Given the description of an element on the screen output the (x, y) to click on. 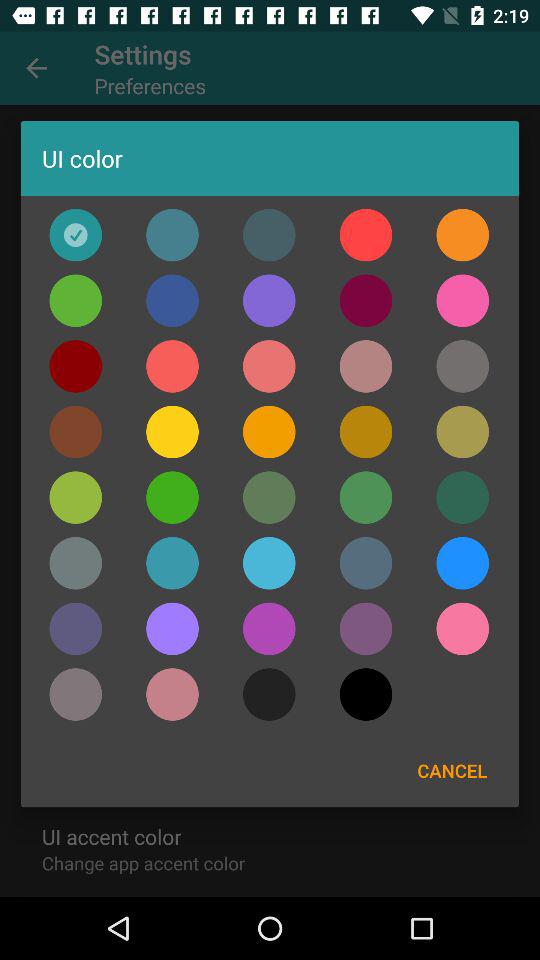
color selection (365, 497)
